Given the description of an element on the screen output the (x, y) to click on. 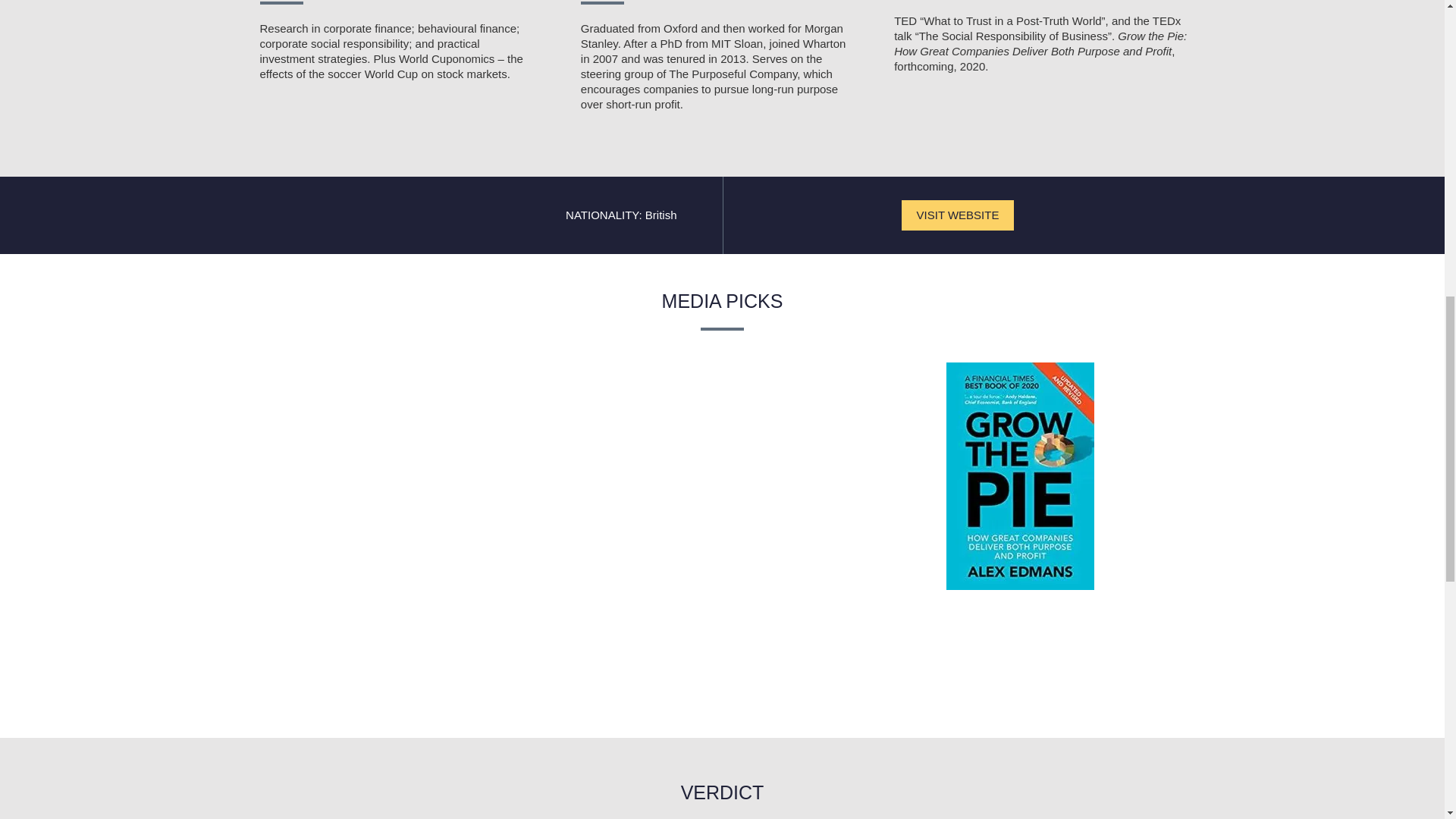
VISIT WEBSITE (957, 214)
